Given the description of an element on the screen output the (x, y) to click on. 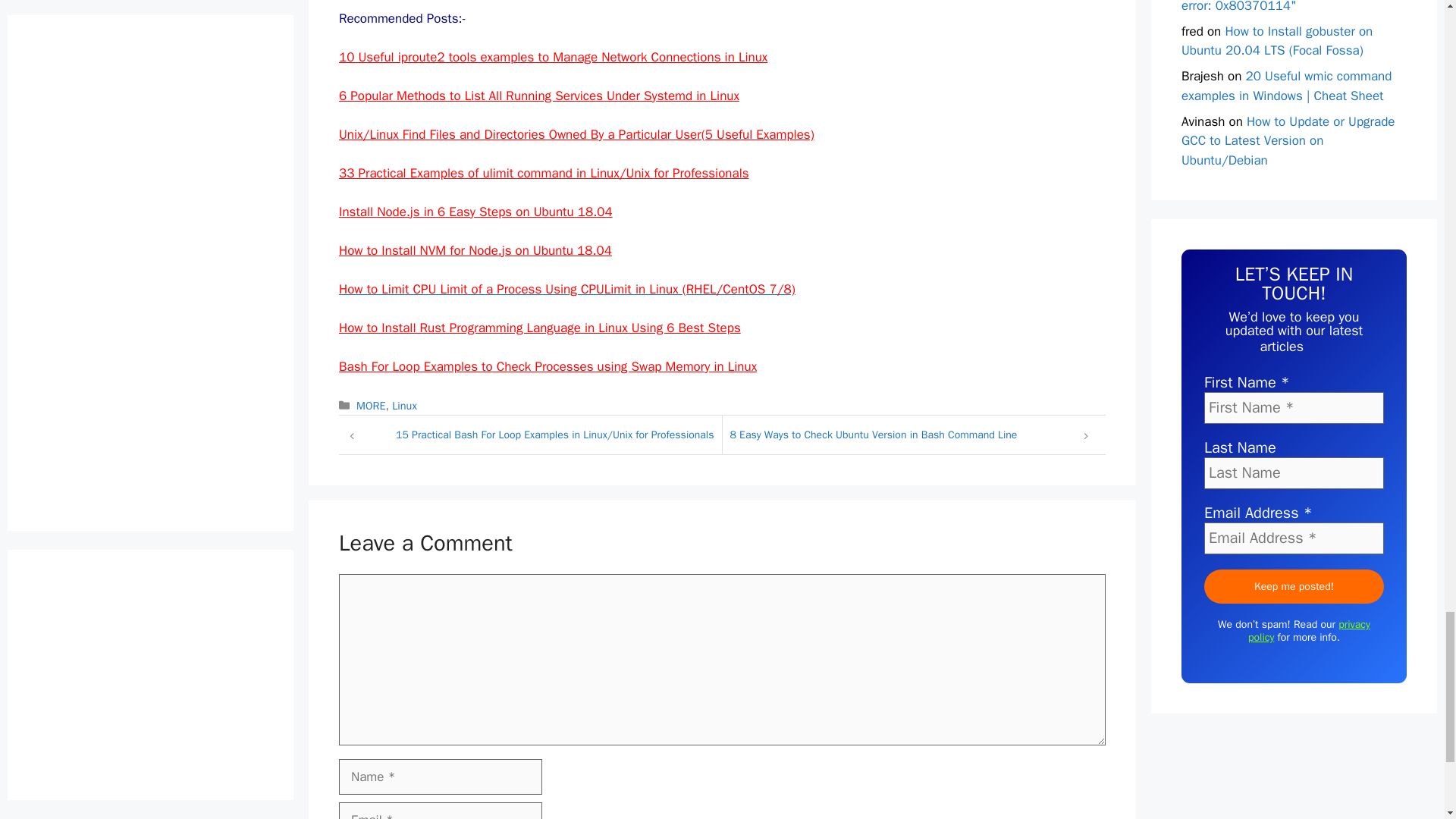
Email Address (1294, 538)
Last Name (1294, 472)
First Name (1294, 408)
Keep me posted! (1294, 586)
